Given the description of an element on the screen output the (x, y) to click on. 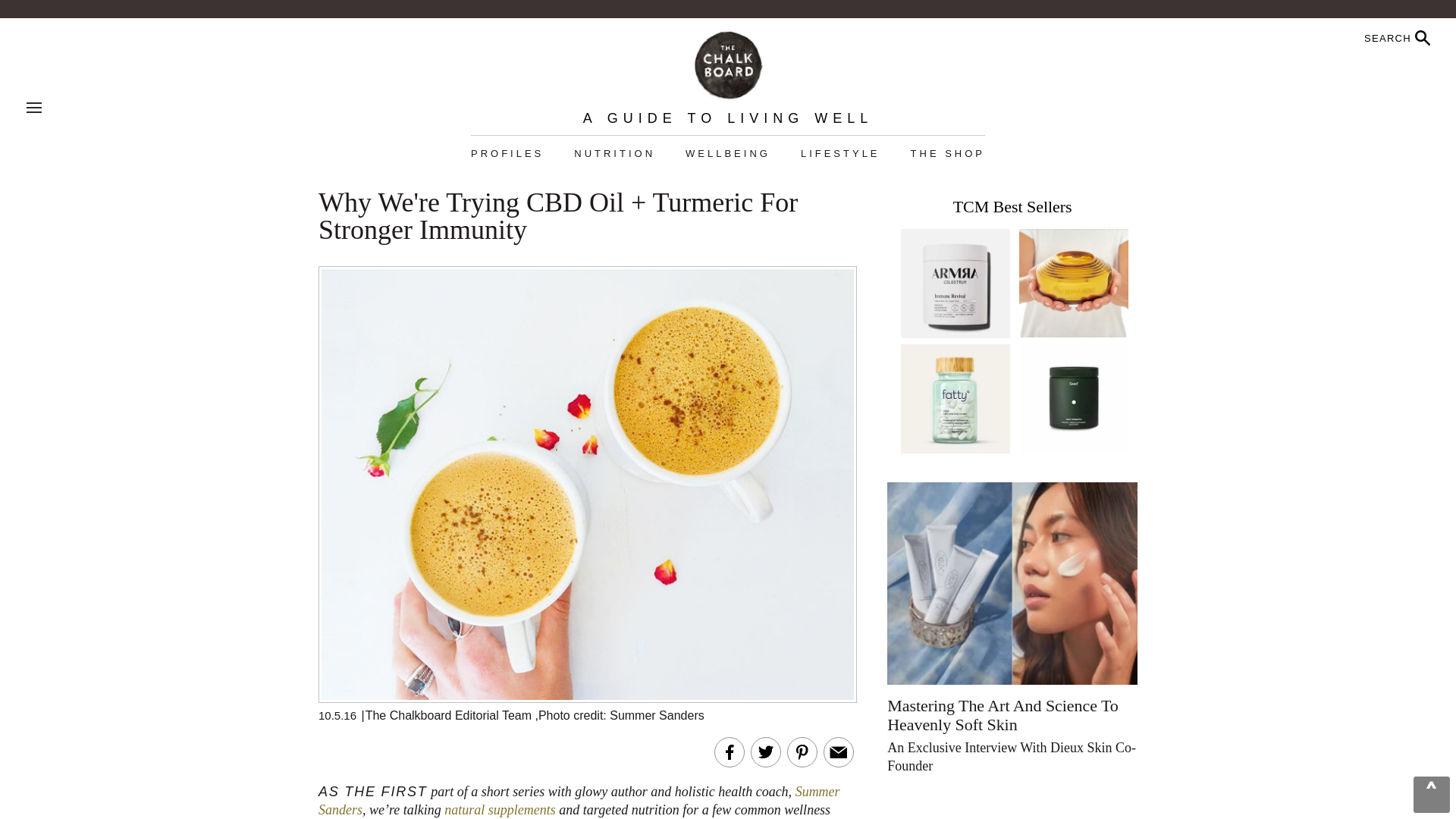
Email this article (838, 752)
Share an image of this article on Pinterest (801, 752)
Share this article on Facebook (729, 752)
The Chalkboard (726, 64)
Share this article on Twitter (765, 752)
Search (1358, 37)
